Given the description of an element on the screen output the (x, y) to click on. 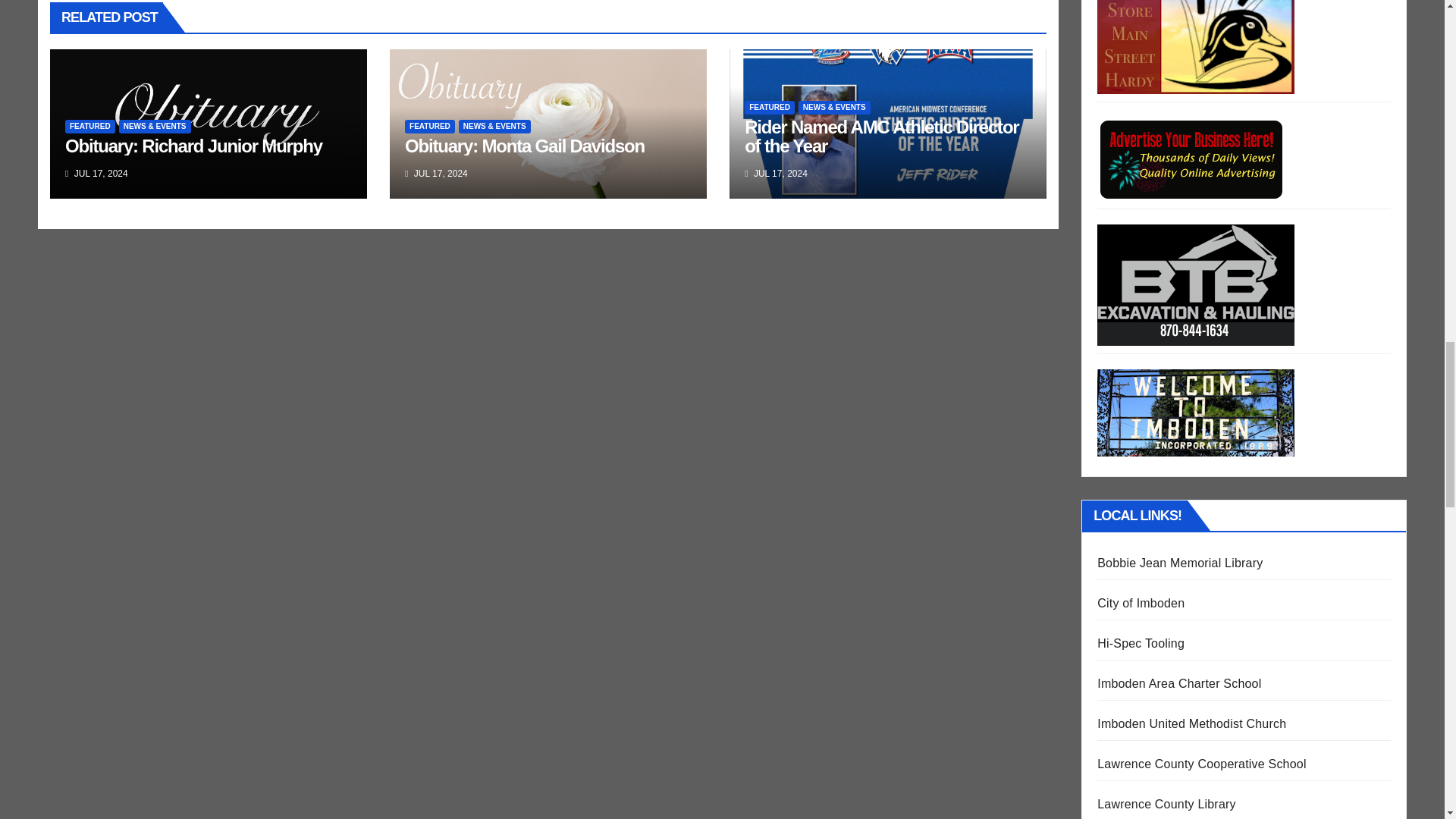
Permalink to: Obituary: Monta Gail Davidson (524, 145)
Permalink to: Rider Named AMC Athletic Director of the Year (880, 136)
official city of imboden arkansas website (1195, 411)
official city of imboden arkansas website (1195, 412)
advertise local! (1192, 158)
Permalink to: Obituary: Richard Junior Murphy (193, 145)
advertise local! (1192, 157)
imboden arkansas  (1141, 603)
imboden arkansas public library (1179, 562)
